Given the description of an element on the screen output the (x, y) to click on. 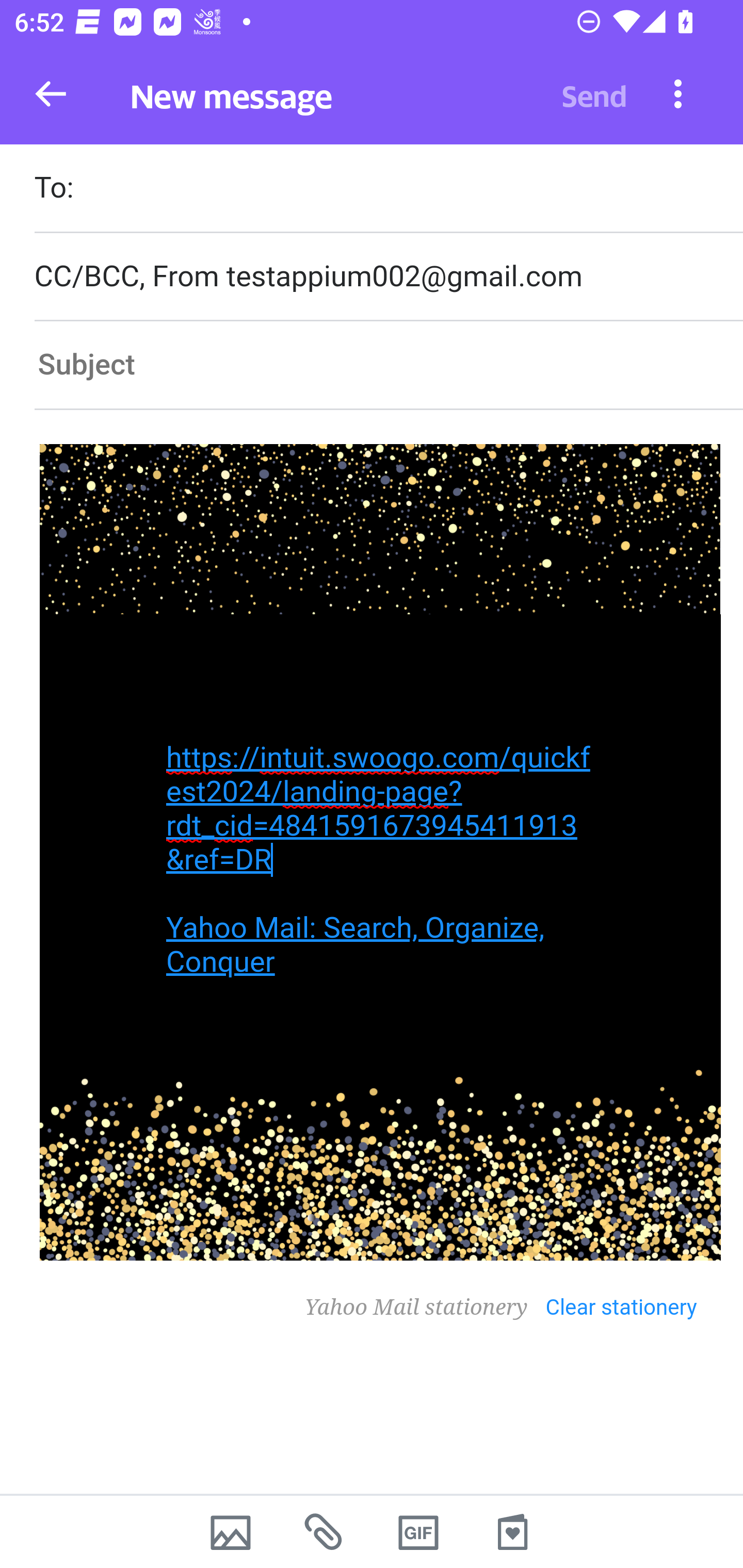
Back (50, 93)
Send (594, 93)
More options (677, 93)
To: (387, 189)
CC/BCC, From testappium002@gmail.com (387, 276)
Yahoo Mail stationery (424, 1307)
Clear stationery (630, 1304)
Camera photos (230, 1531)
Recent attachments from mail (324, 1531)
GIFs (417, 1531)
Stationery (512, 1531)
